Given the description of an element on the screen output the (x, y) to click on. 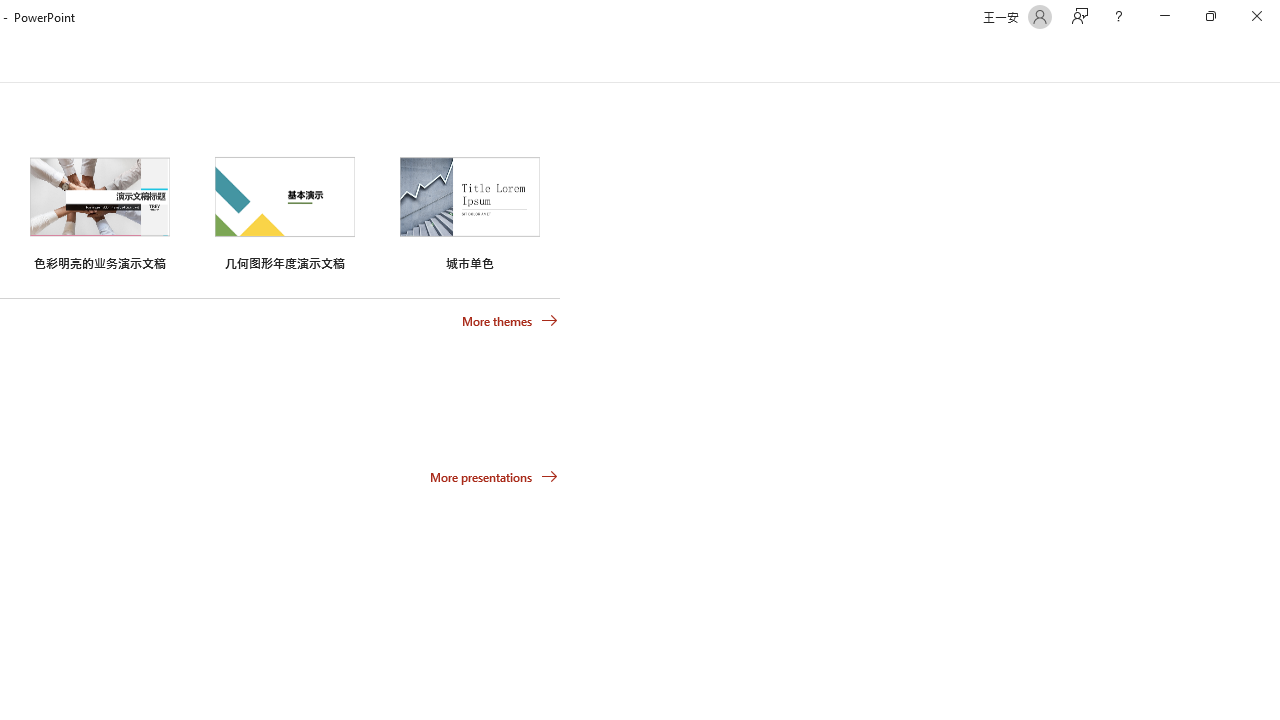
More themes (509, 321)
More presentations (493, 476)
